Given the description of an element on the screen output the (x, y) to click on. 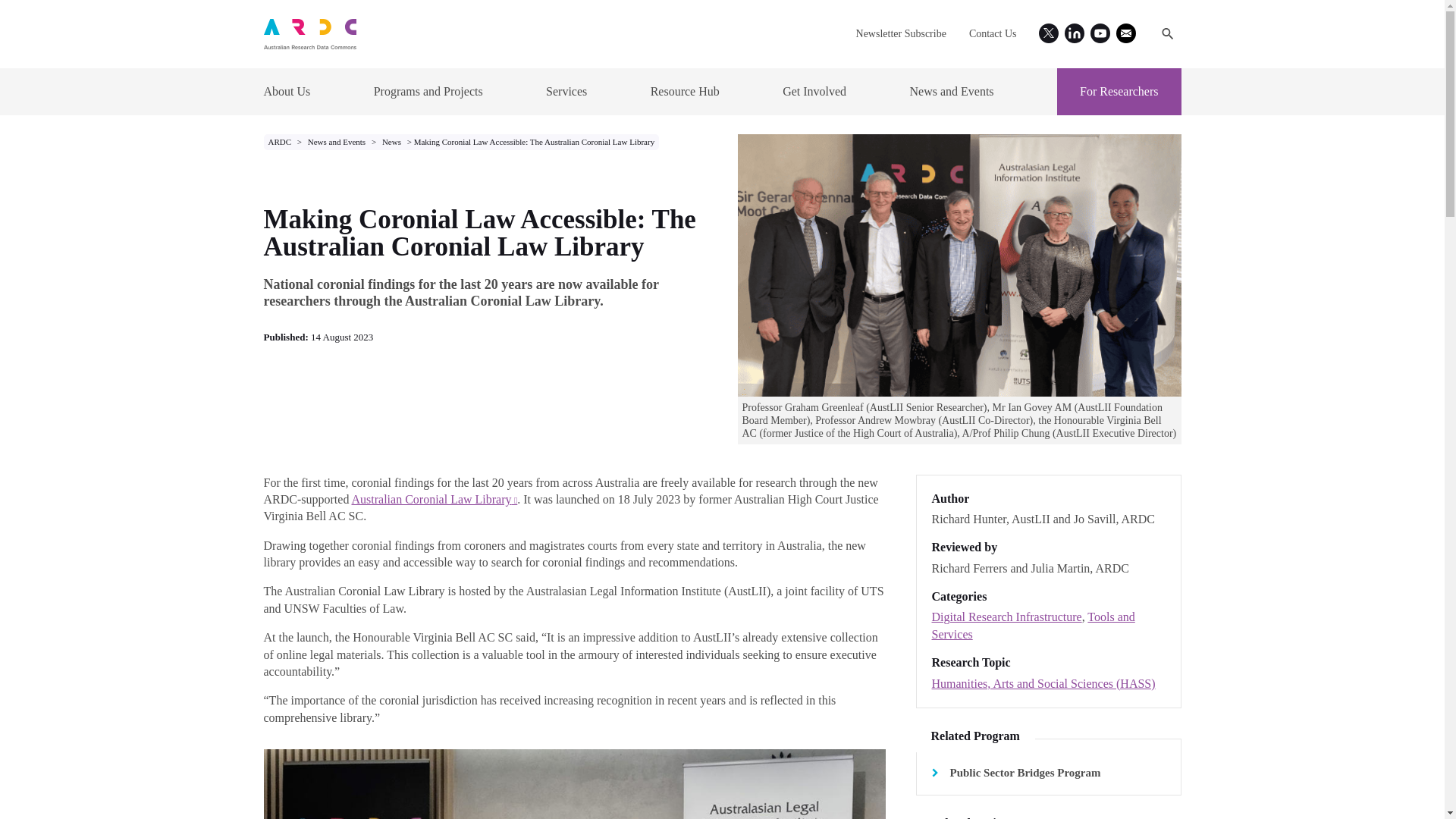
Contact Us (992, 33)
About Us (287, 91)
Go to News and Events. (336, 141)
Newsletter Subscribe (901, 33)
Programs and Projects (428, 91)
Go to ARDC. (281, 141)
Go to News. (391, 141)
